Given the description of an element on the screen output the (x, y) to click on. 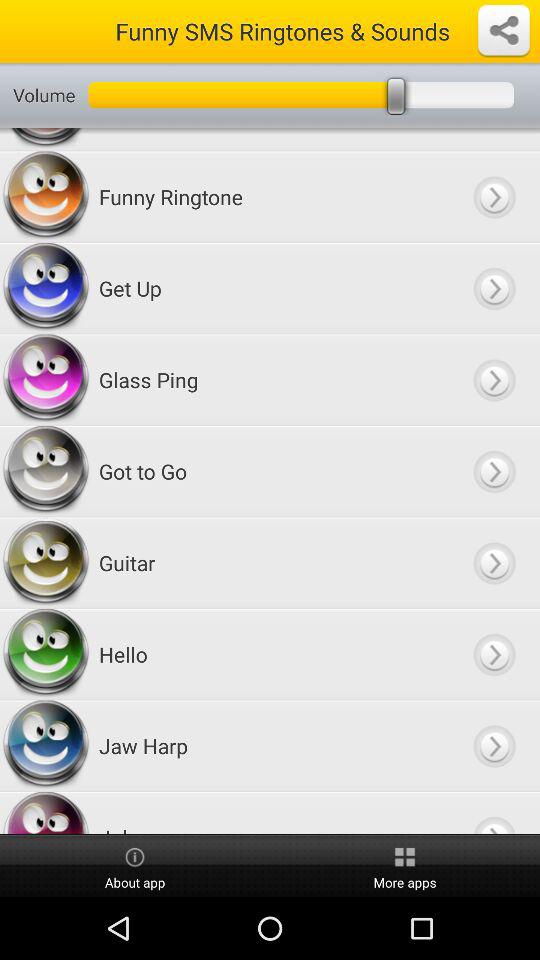
go next (494, 471)
